Given the description of an element on the screen output the (x, y) to click on. 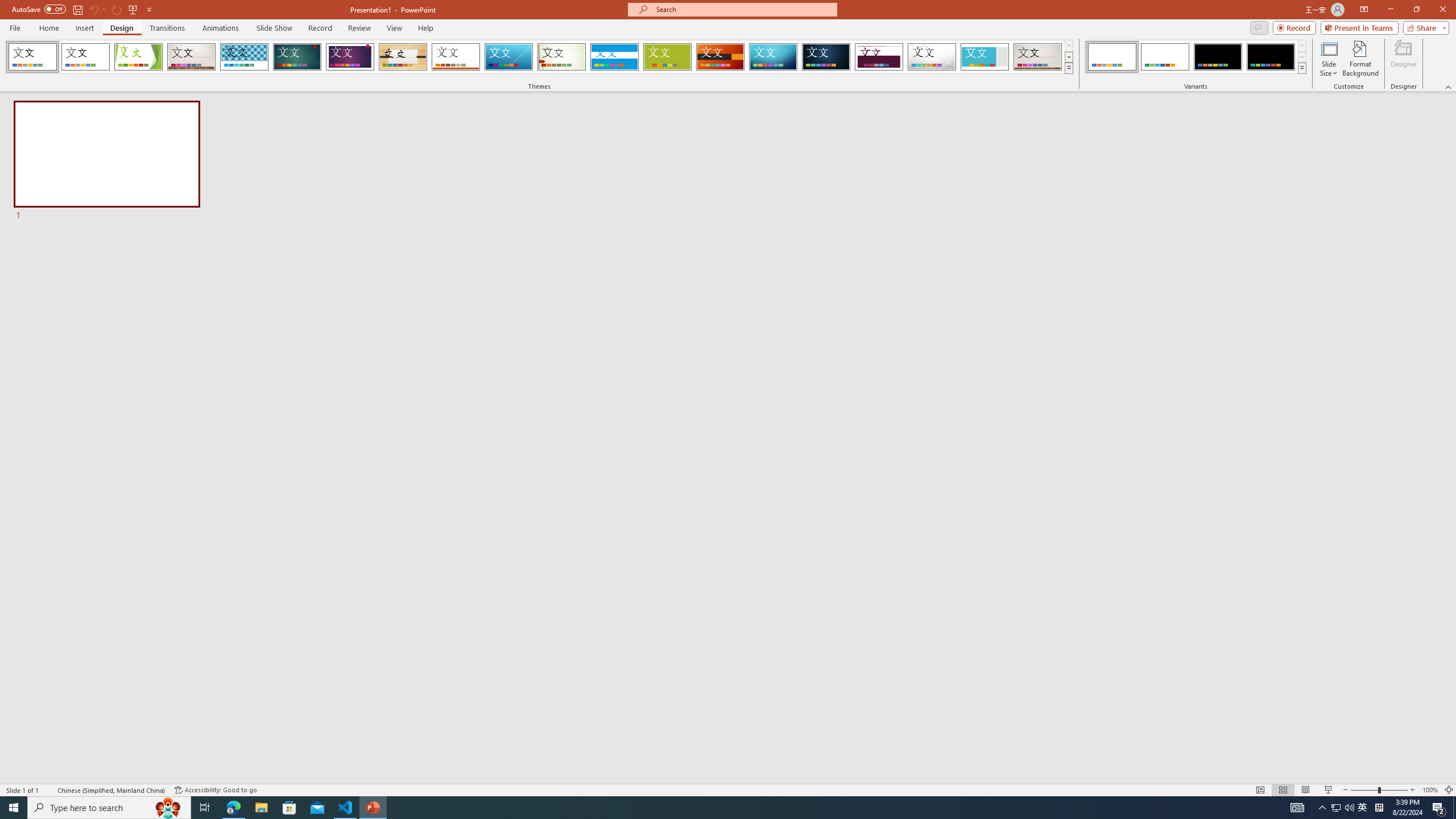
Format Background (1360, 58)
Frame Loading Preview... (984, 56)
Row up (1301, 45)
AutomationID: ThemeVariantsGallery (1195, 56)
Circuit Loading Preview... (772, 56)
Droplet Loading Preview... (931, 56)
Variants (1301, 67)
Facet (138, 56)
AutomationID: SlideThemesGallery (539, 56)
